Given the description of an element on the screen output the (x, y) to click on. 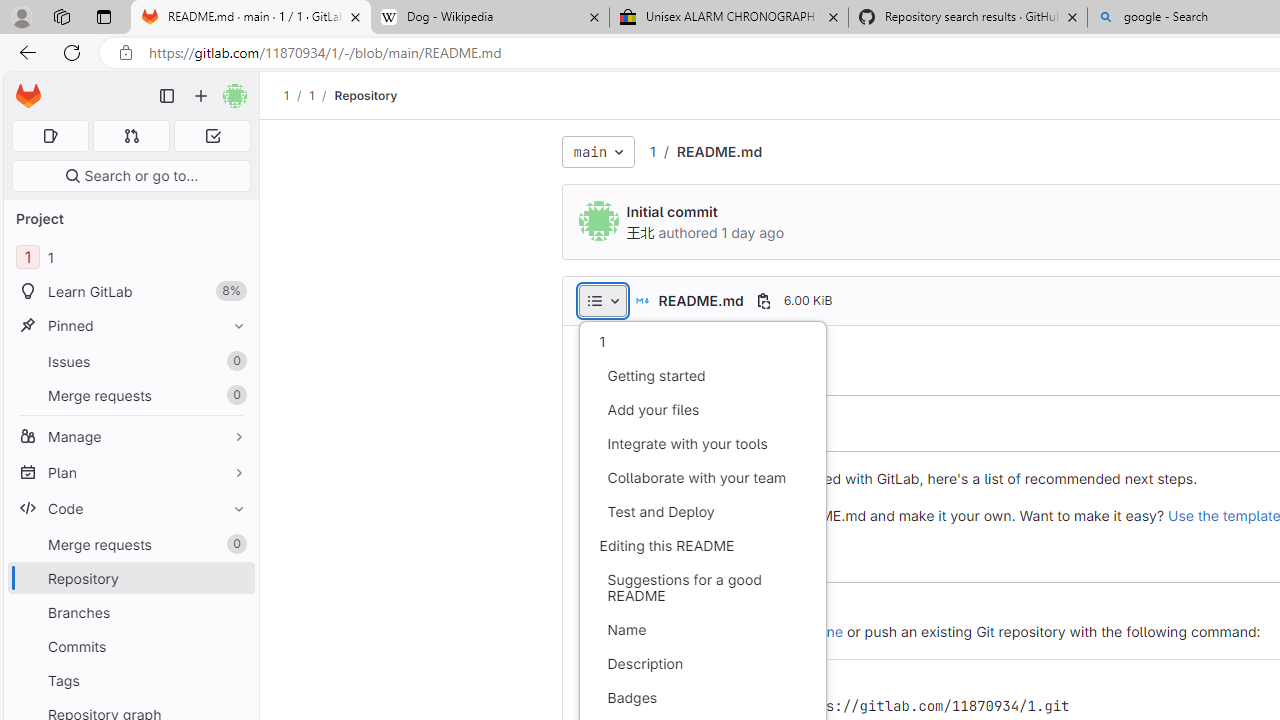
Dog - Wikipedia (490, 17)
Integrate with your tools (701, 443)
1/ (321, 95)
/README.md (708, 151)
Learn GitLab 8% (130, 291)
Copy file path (763, 300)
Issues 0 (130, 361)
Primary navigation sidebar (167, 96)
11 (130, 257)
AutomationID: dropdown-toggle-btn-52 (602, 300)
Plan (130, 471)
Unpin Issues (234, 361)
Merge requests 0 (131, 136)
